Given the description of an element on the screen output the (x, y) to click on. 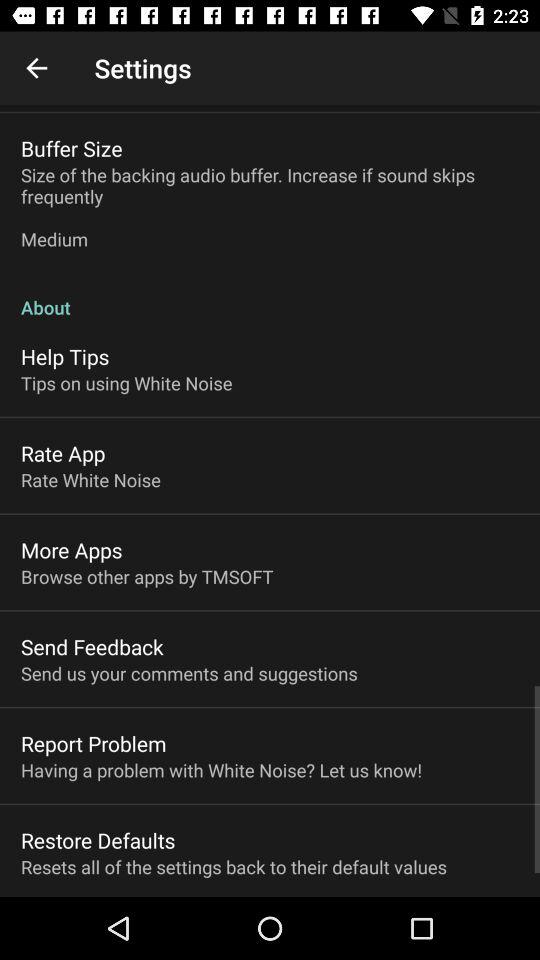
launch icon below the send feedback item (189, 673)
